Given the description of an element on the screen output the (x, y) to click on. 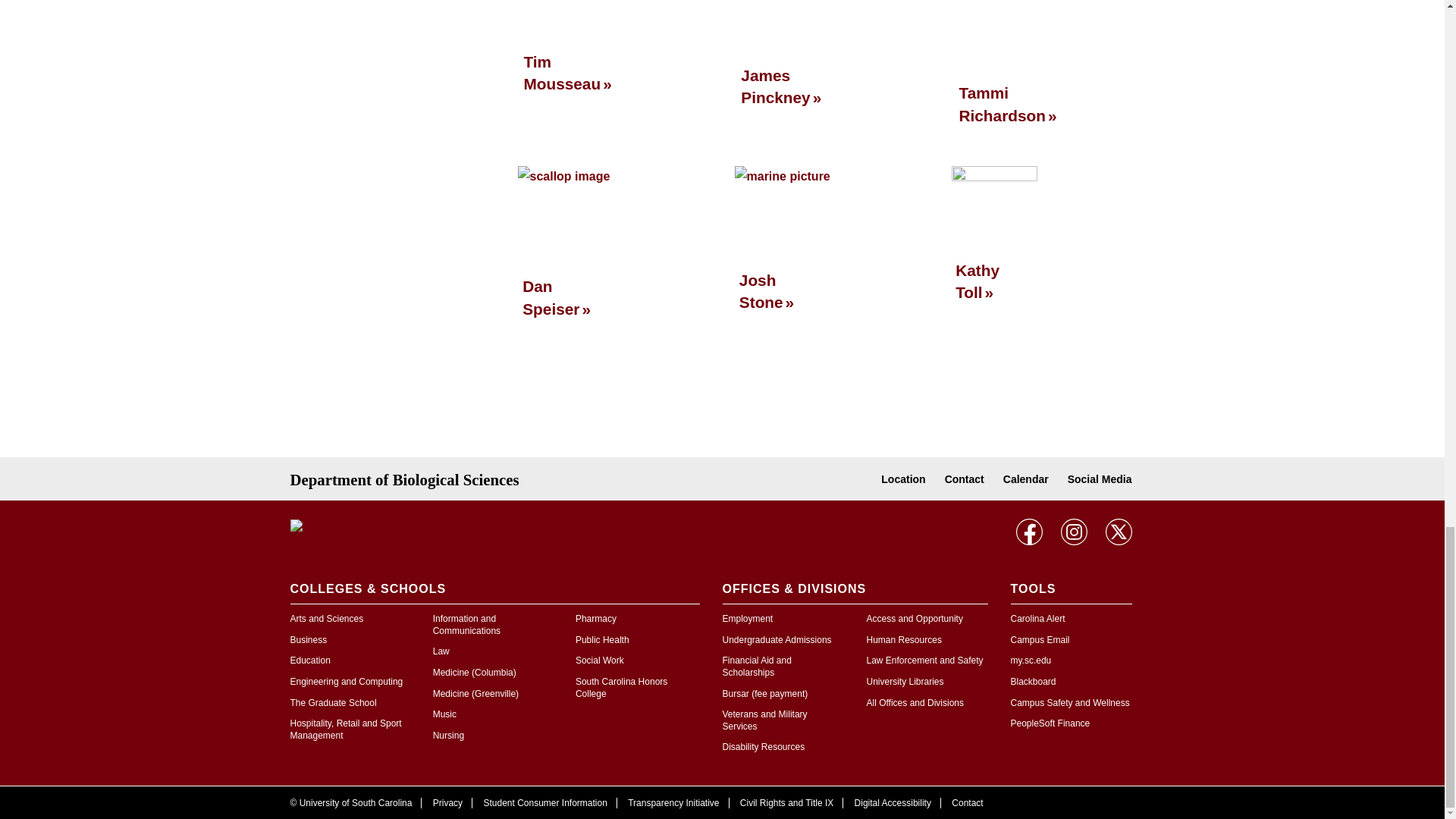
University of South Carolina (388, 526)
